Given the description of an element on the screen output the (x, y) to click on. 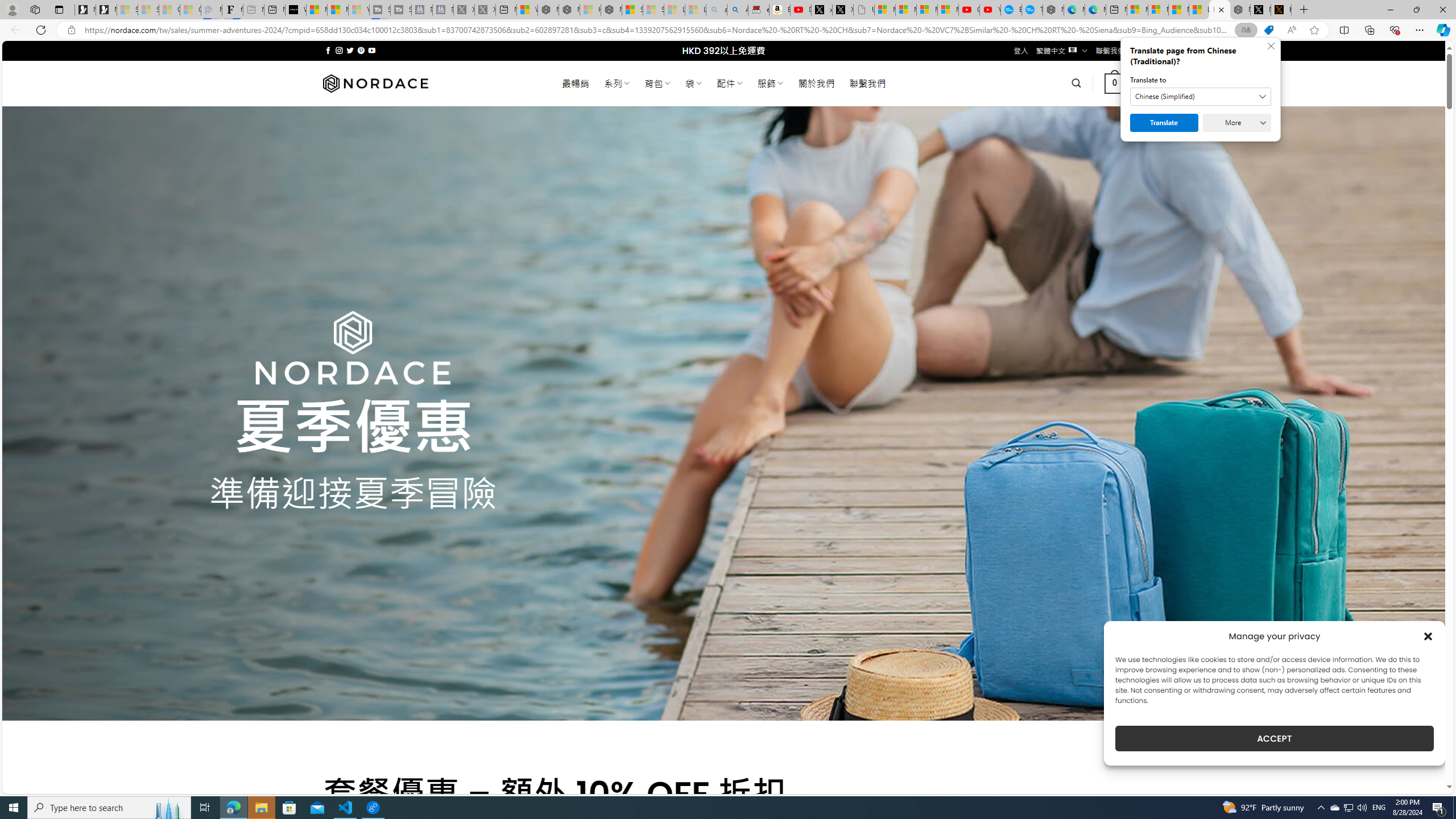
Follow on Pinterest (360, 50)
help.x.com | 524: A timeout occurred (1280, 9)
ACCEPT (1274, 738)
amazon - Search - Sleeping (716, 9)
Follow on YouTube (371, 50)
